Given the description of an element on the screen output the (x, y) to click on. 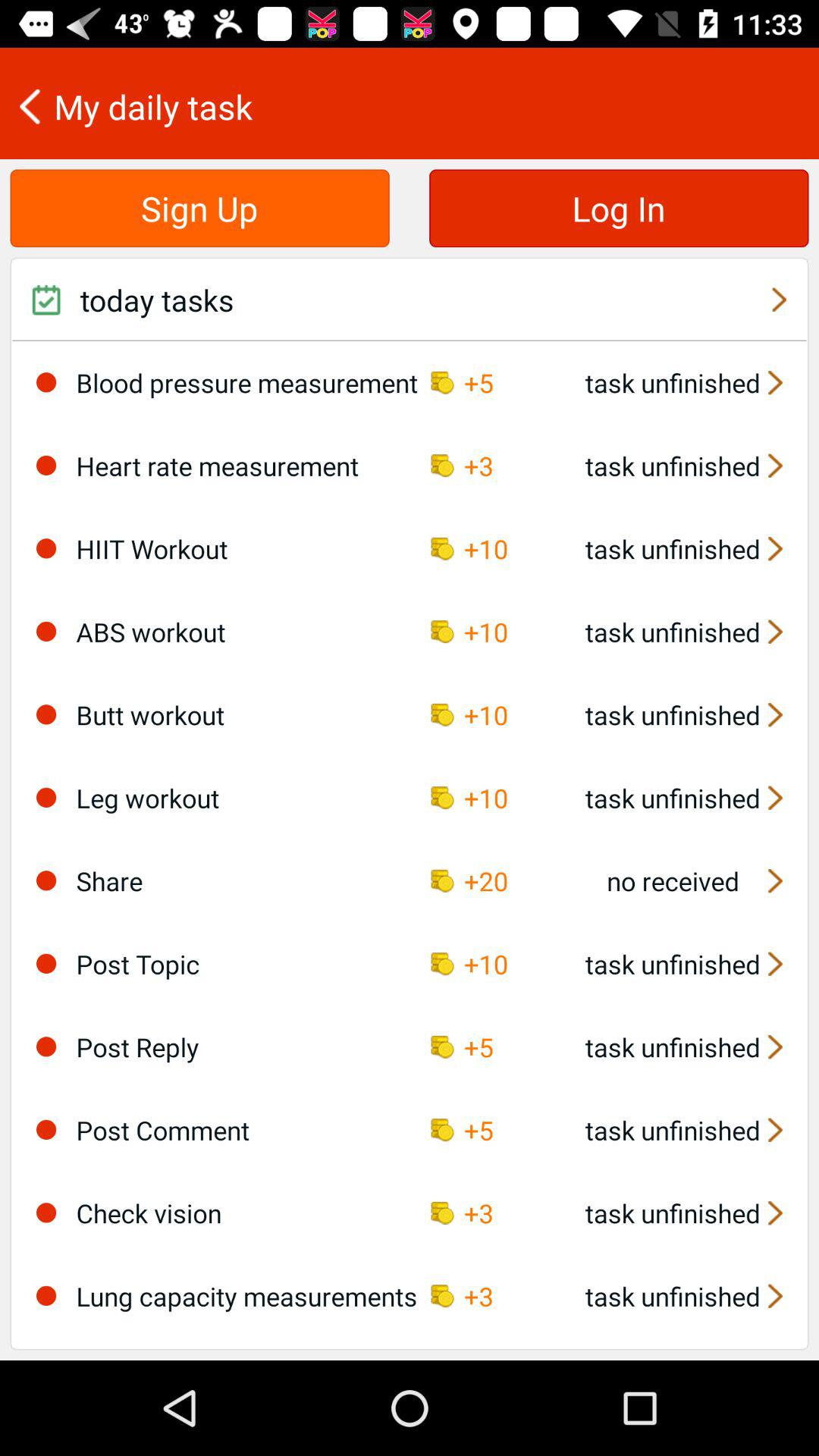
click item next to lung capacity measurements icon (46, 1295)
